Given the description of an element on the screen output the (x, y) to click on. 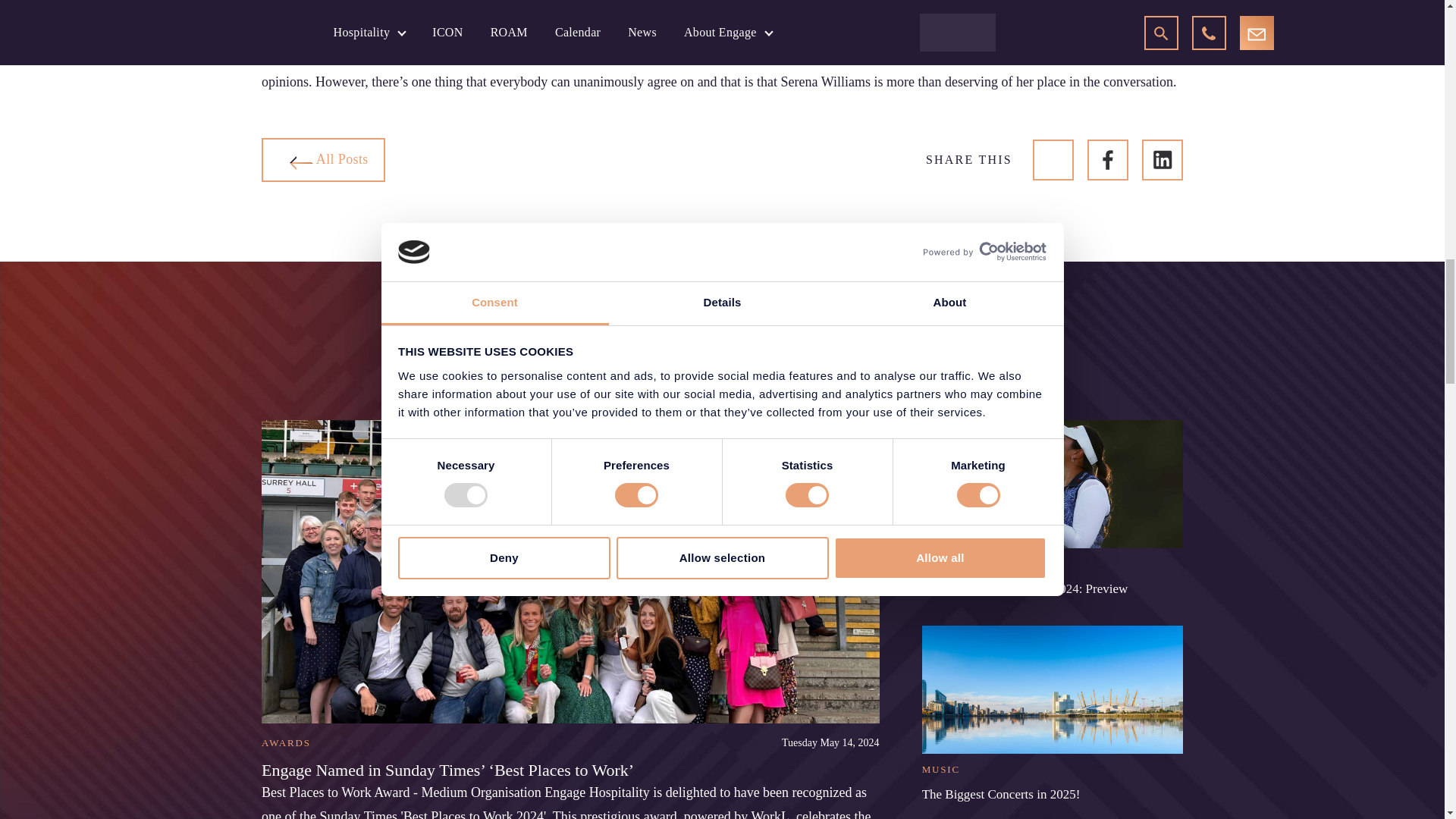
Share on Facebook (1107, 159)
Tweet this (1053, 159)
Share on LinkedIn (1161, 159)
